Given the description of an element on the screen output the (x, y) to click on. 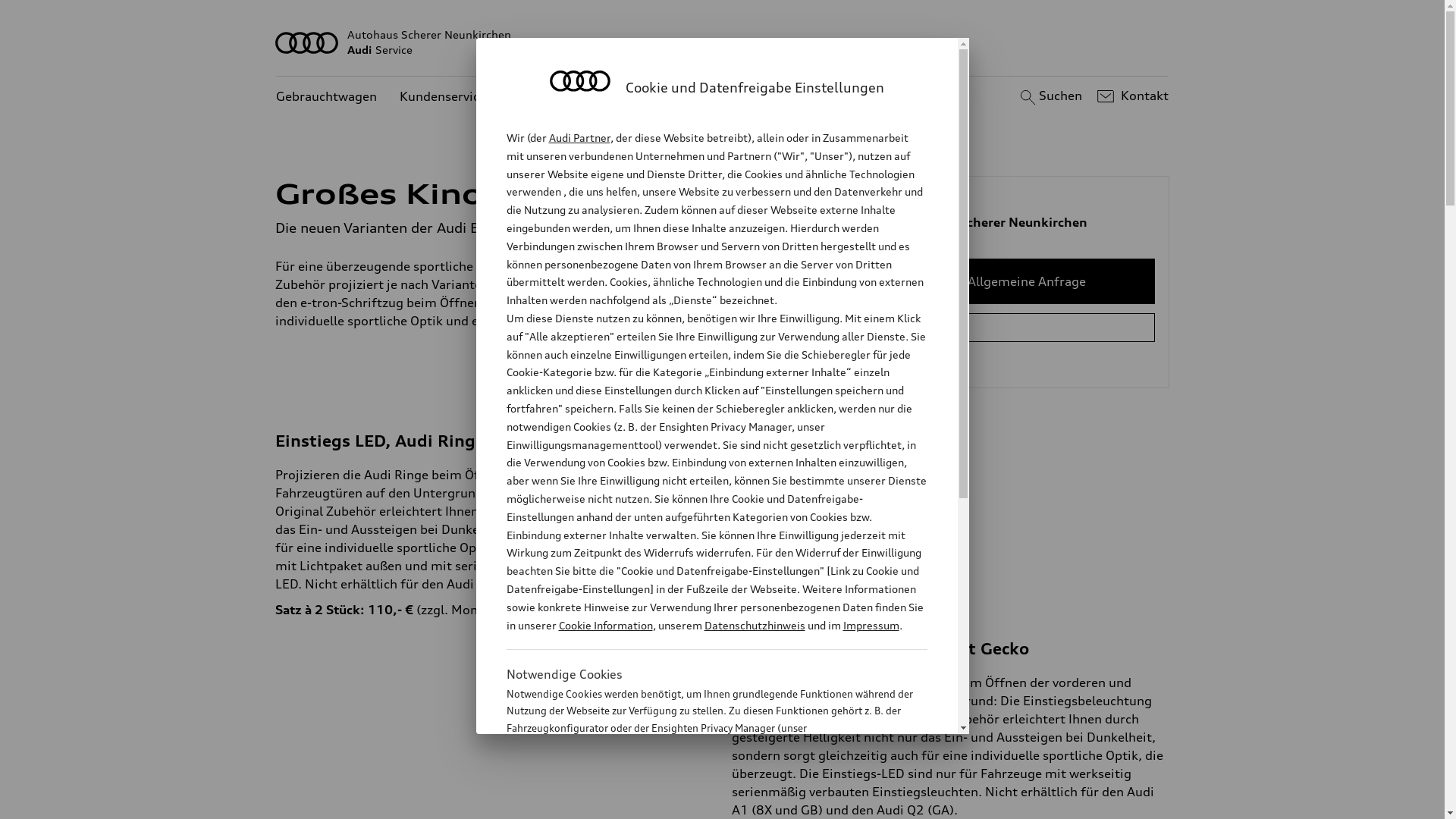
Datenschutzhinweis Element type: text (753, 624)
Cookie Information Element type: text (605, 624)
Suchen Element type: text (1049, 96)
Cookie Information Element type: text (700, 802)
Gebrauchtwagen Element type: text (326, 96)
Audi Partner Element type: text (579, 137)
Kundenservice Element type: text (442, 96)
Autohaus Scherer Neunkirchen
AudiService Element type: text (722, 42)
Kontakt Element type: text (1130, 96)
Allgemeine Anfrage Element type: text (1025, 281)
Impressum Element type: text (871, 624)
